Given the description of an element on the screen output the (x, y) to click on. 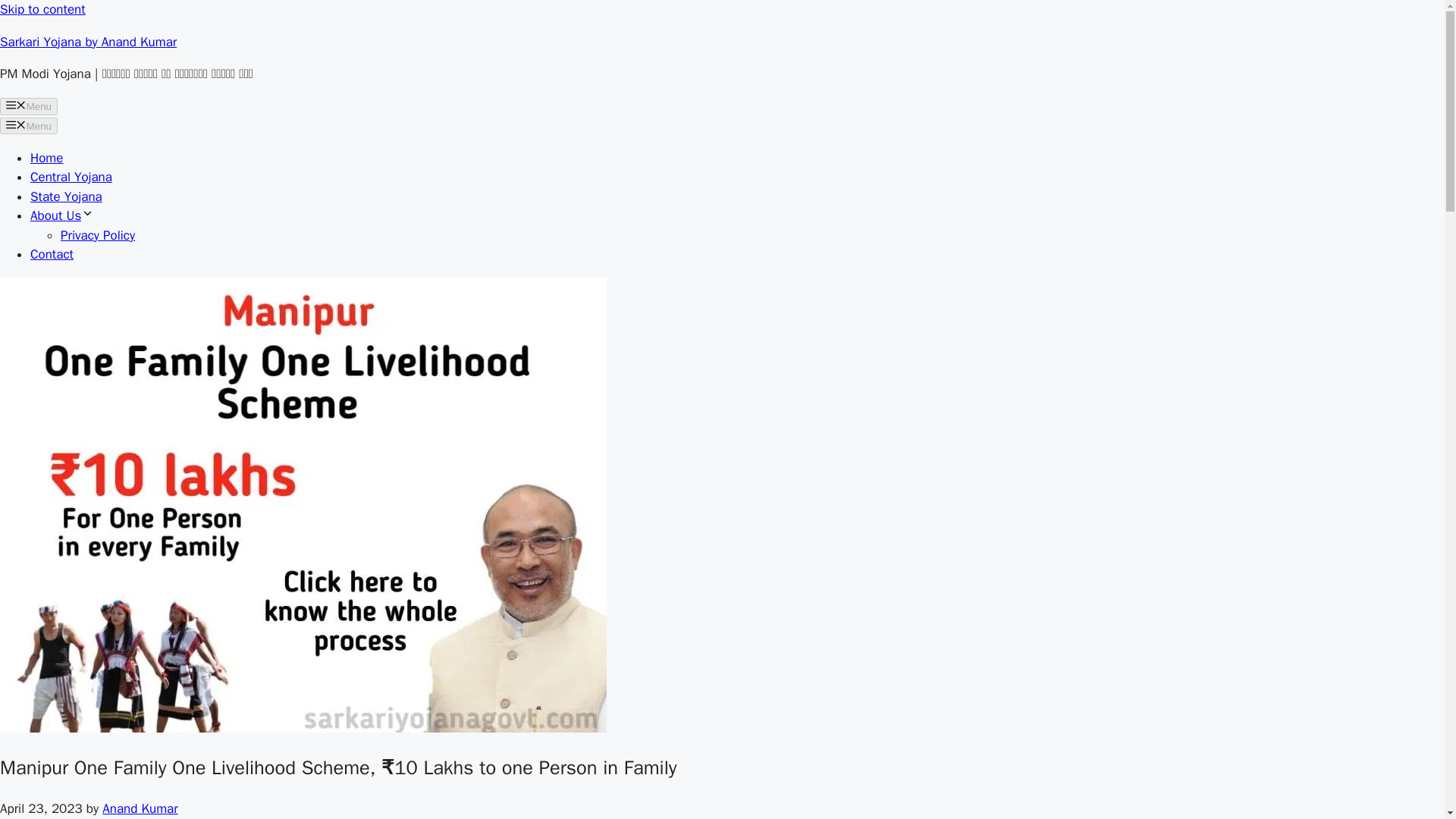
Privacy Policy (98, 235)
Contact (52, 254)
Sarkari Yojana by Anand Kumar (88, 41)
Menu (29, 105)
State Yojana (65, 195)
About Us (62, 215)
Anand Kumar (139, 808)
View all posts by Anand Kumar (139, 808)
Skip to content (42, 9)
Menu (29, 125)
Home (46, 157)
Skip to content (42, 9)
Central Yojana (71, 176)
